Given the description of an element on the screen output the (x, y) to click on. 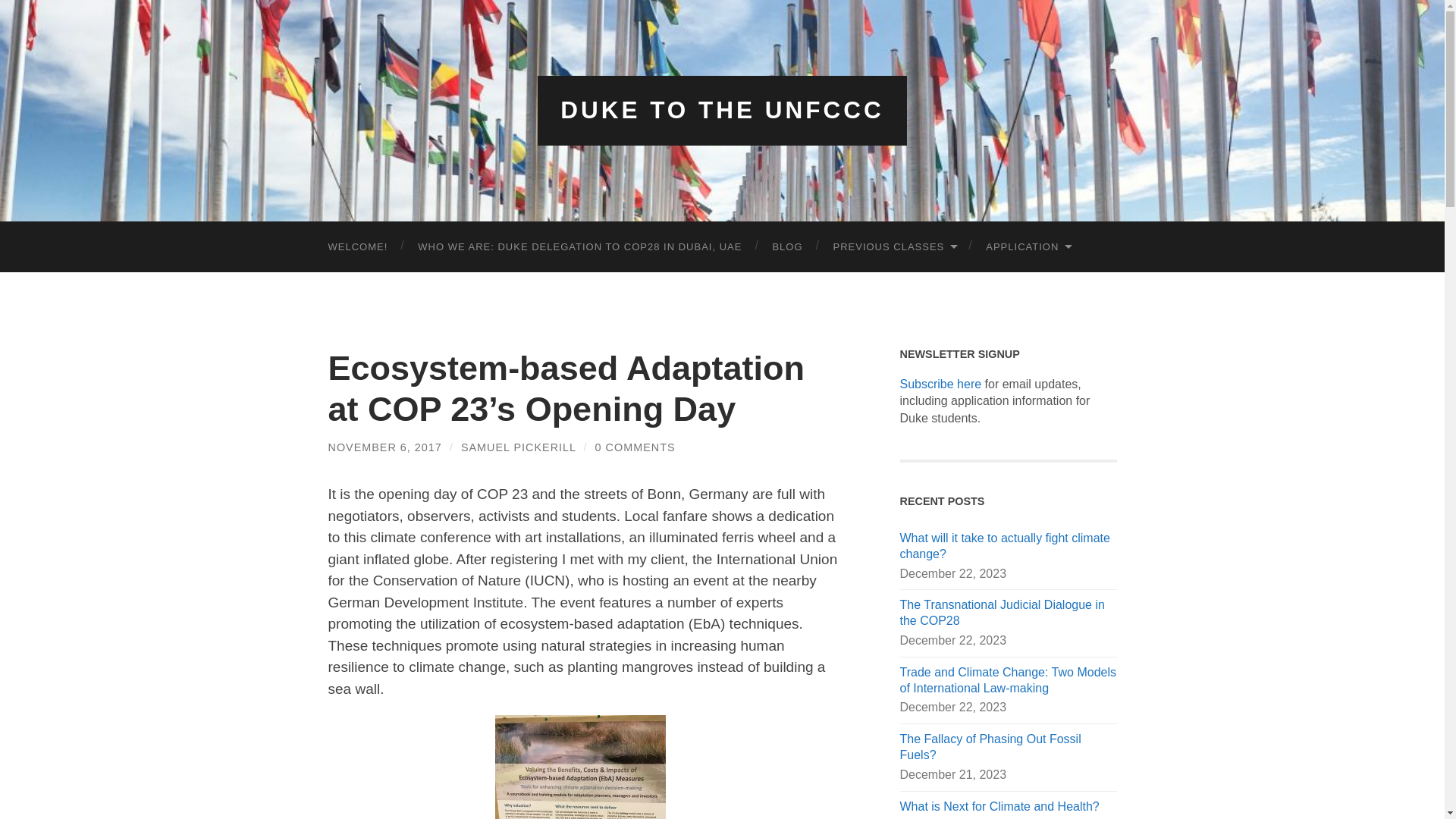
NOVEMBER 6, 2017 (384, 447)
What will it take to actually fight climate change? (1007, 546)
The Transnational Judicial Dialogue in the COP28 (1007, 613)
Posts by Samuel Pickerill (518, 447)
The Fallacy of Phasing Out Fossil Fuels? (1007, 747)
WHO WE ARE: DUKE DELEGATION TO COP28 IN DUBAI, UAE (580, 246)
APPLICATION (1027, 246)
0 COMMENTS (635, 447)
BLOG (786, 246)
PREVIOUS CLASSES (893, 246)
